Given the description of an element on the screen output the (x, y) to click on. 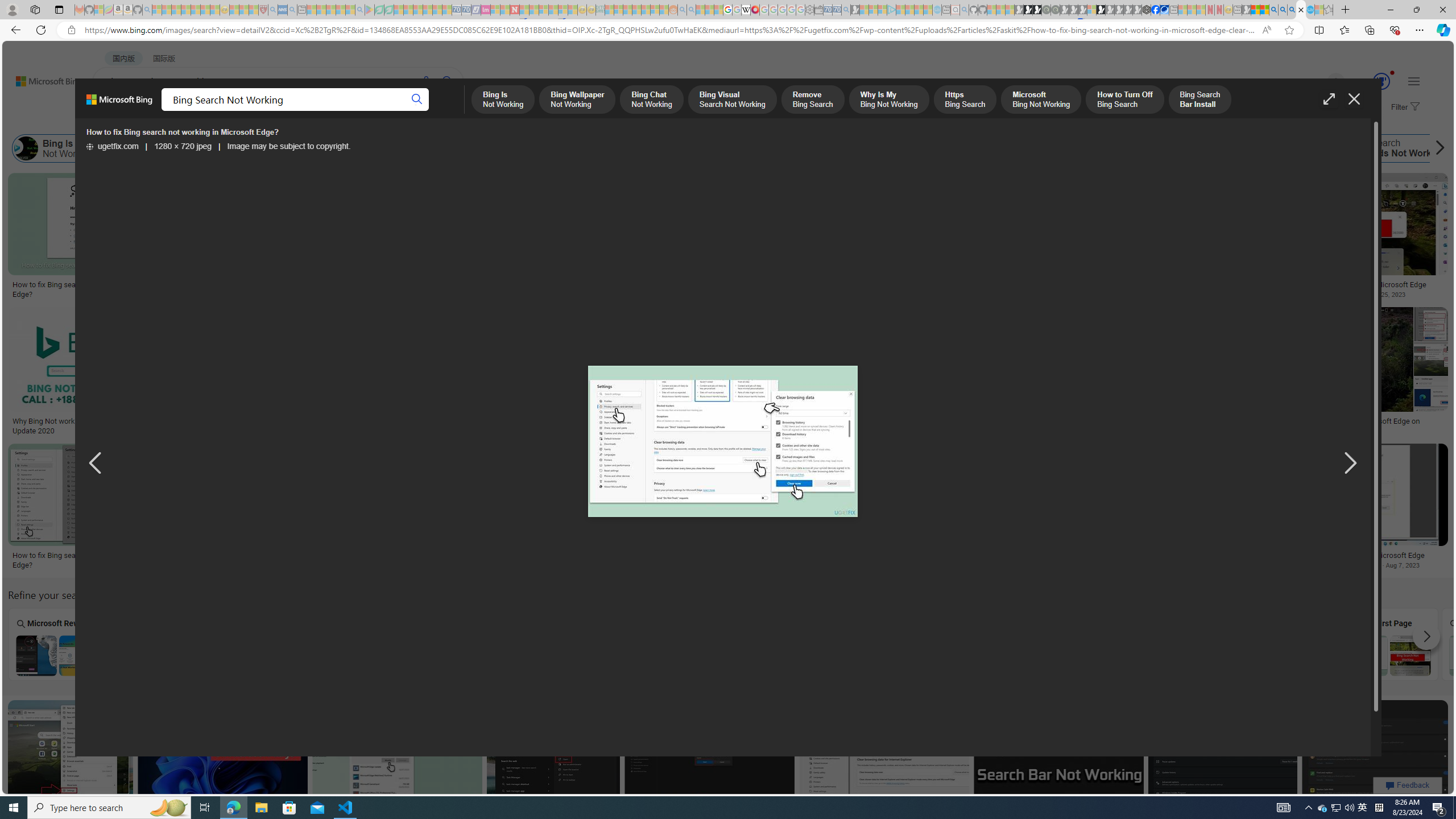
Terms of Use Agreement - Sleeping (378, 9)
3:53 (170, 317)
New tab - Sleeping (1236, 9)
Search using voice (426, 80)
Bar (1081, 643)
Bing Wallpaper Not Working (162, 148)
Recipes - MSN - Sleeping (234, 9)
Bing Crosby Christmas Album (809, 212)
IMAGES (205, 112)
My Tablet (160, 643)
Bing searches not working? : r/bing (794, 421)
Bing Search Points Not Working (467, 655)
